Given the description of an element on the screen output the (x, y) to click on. 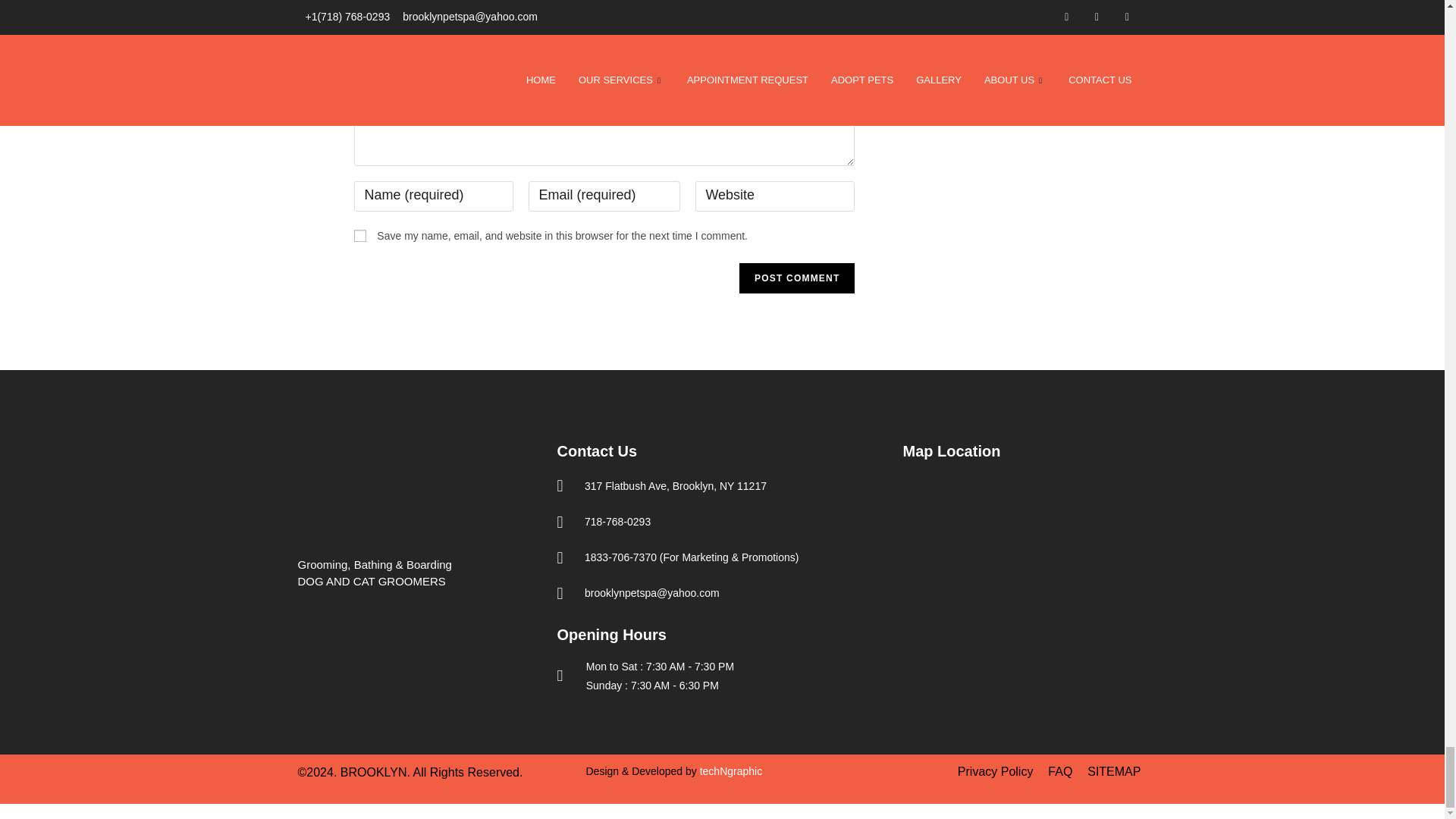
Post Comment (796, 277)
yes (359, 234)
